Given the description of an element on the screen output the (x, y) to click on. 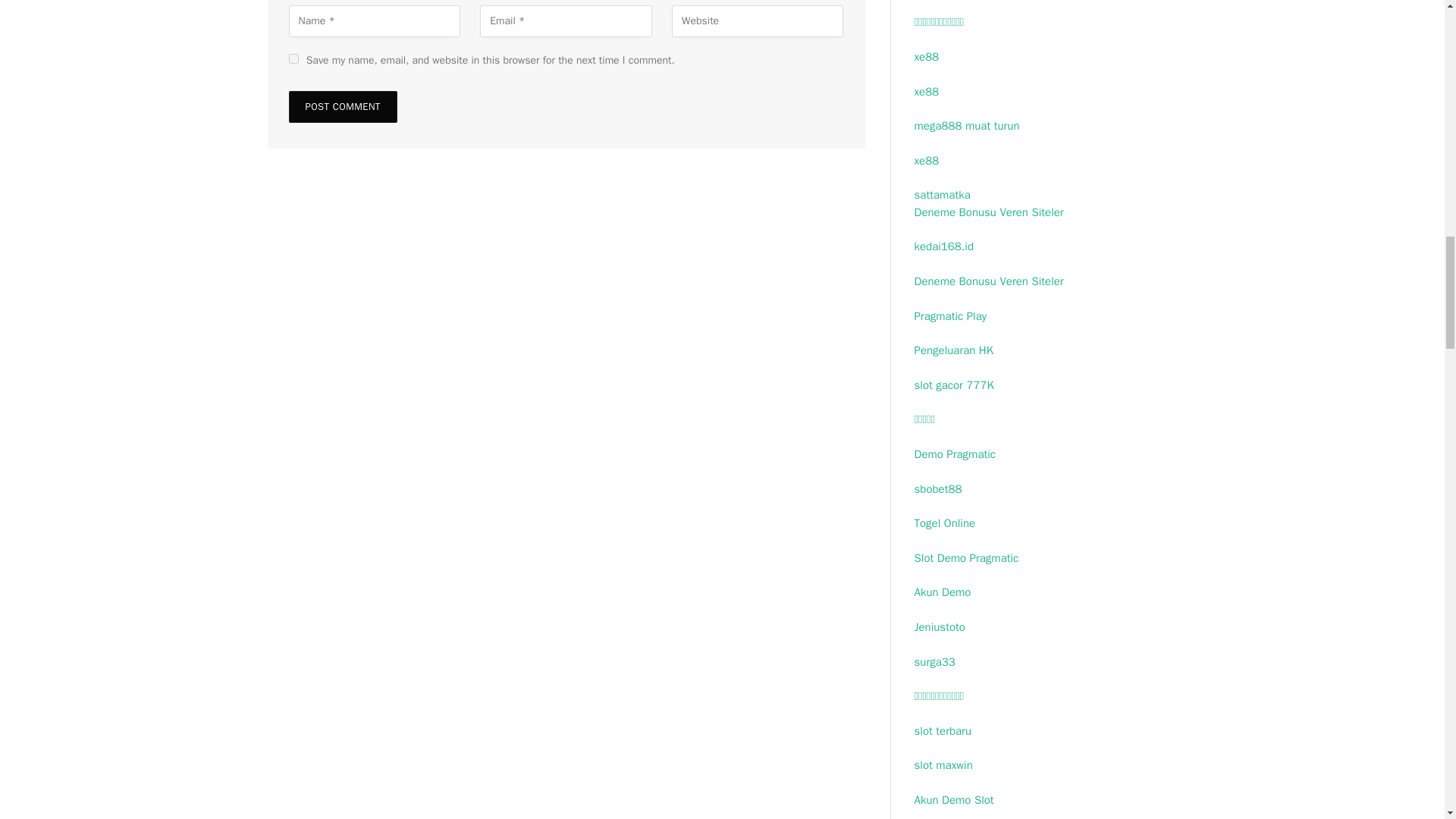
yes (293, 58)
Post Comment (342, 106)
